Given the description of an element on the screen output the (x, y) to click on. 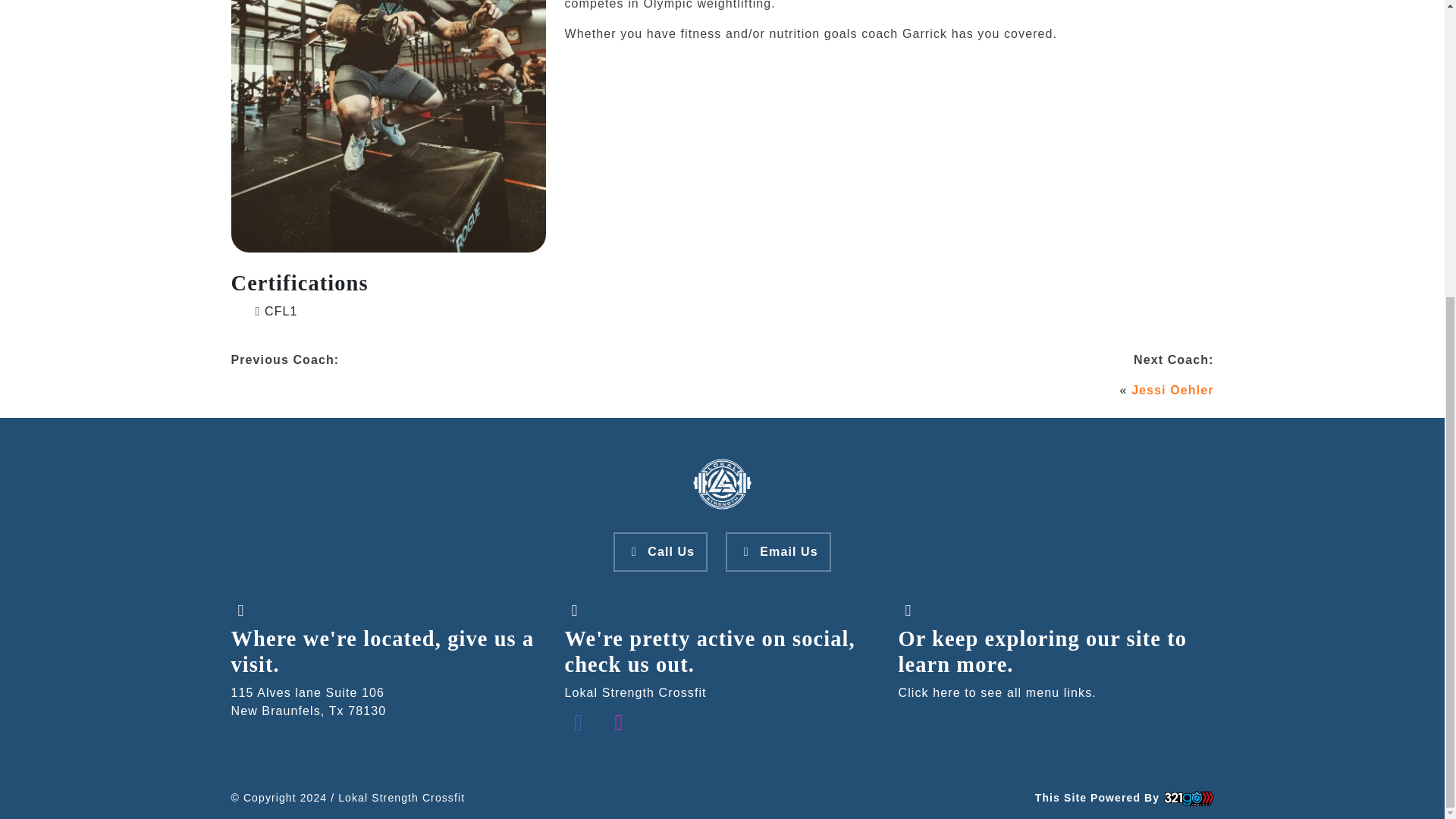
Jessi Oehler (1171, 390)
Call Us (659, 551)
facebook (578, 722)
Email Us (777, 551)
Lokal Strength Crossfit (721, 483)
instagram (619, 722)
